Given the description of an element on the screen output the (x, y) to click on. 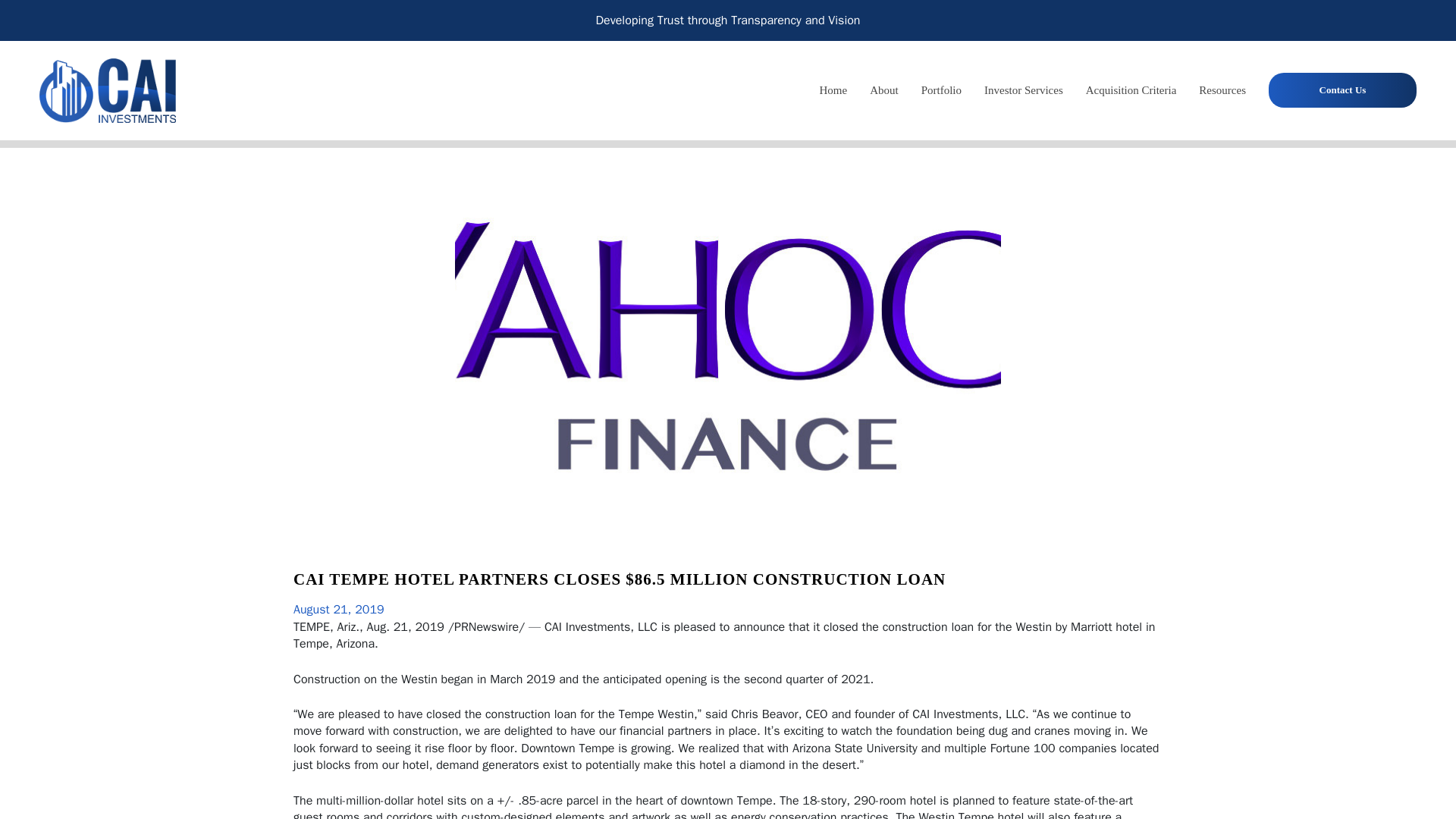
Home (833, 90)
Acquisition Criteria (1131, 90)
About (884, 90)
Investor Services (1023, 90)
Resources (1222, 90)
Resources (1222, 90)
Acquisition Criteria (1131, 90)
About (884, 90)
Portfolio (941, 90)
Portfolio (941, 90)
CAI Investment Las Vegas (107, 87)
August 21, 2019 (339, 609)
Investor Services (1023, 90)
Home (833, 90)
Contact Us (1342, 89)
